Given the description of an element on the screen output the (x, y) to click on. 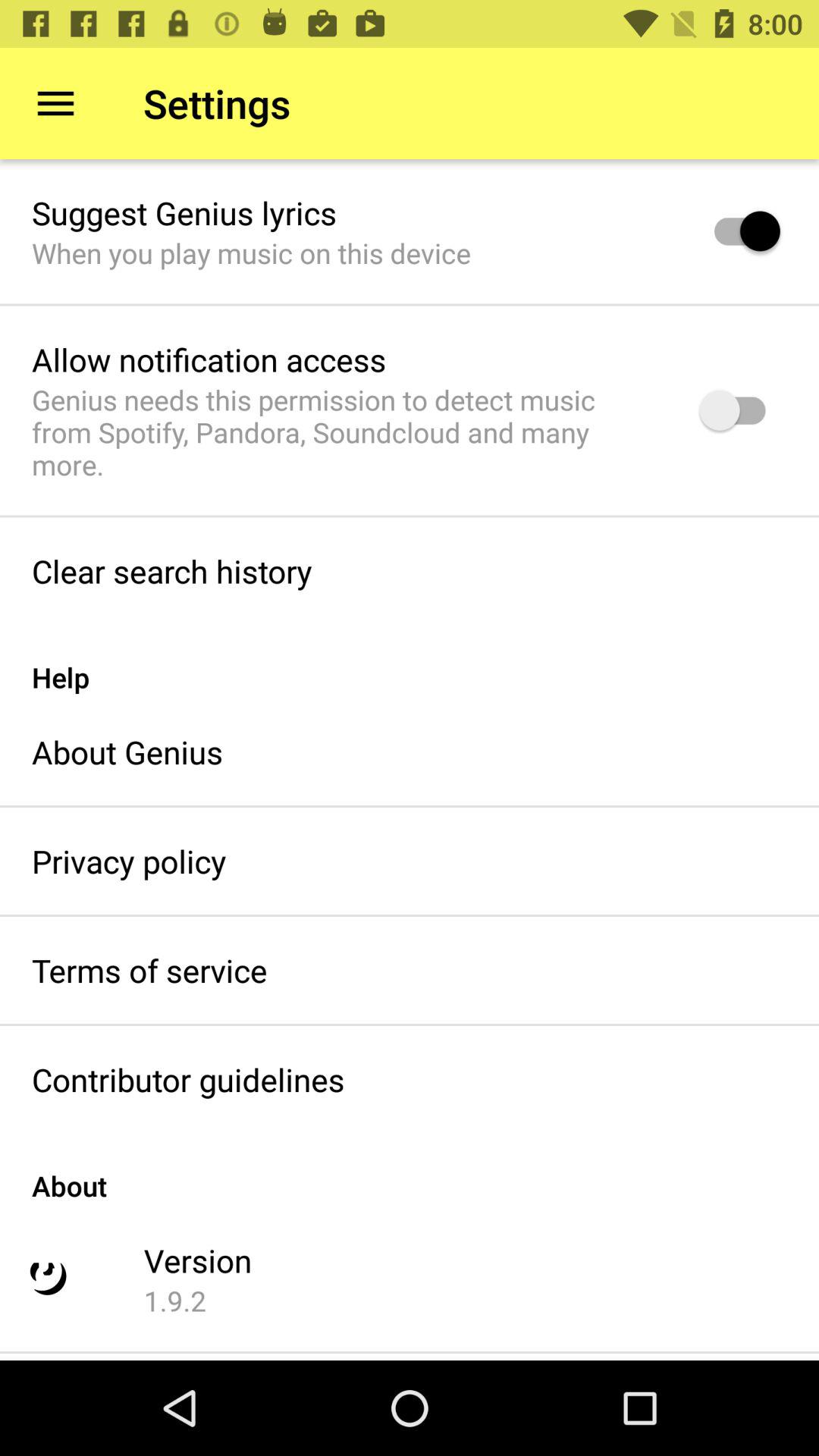
press the item above privacy policy (126, 751)
